Given the description of an element on the screen output the (x, y) to click on. 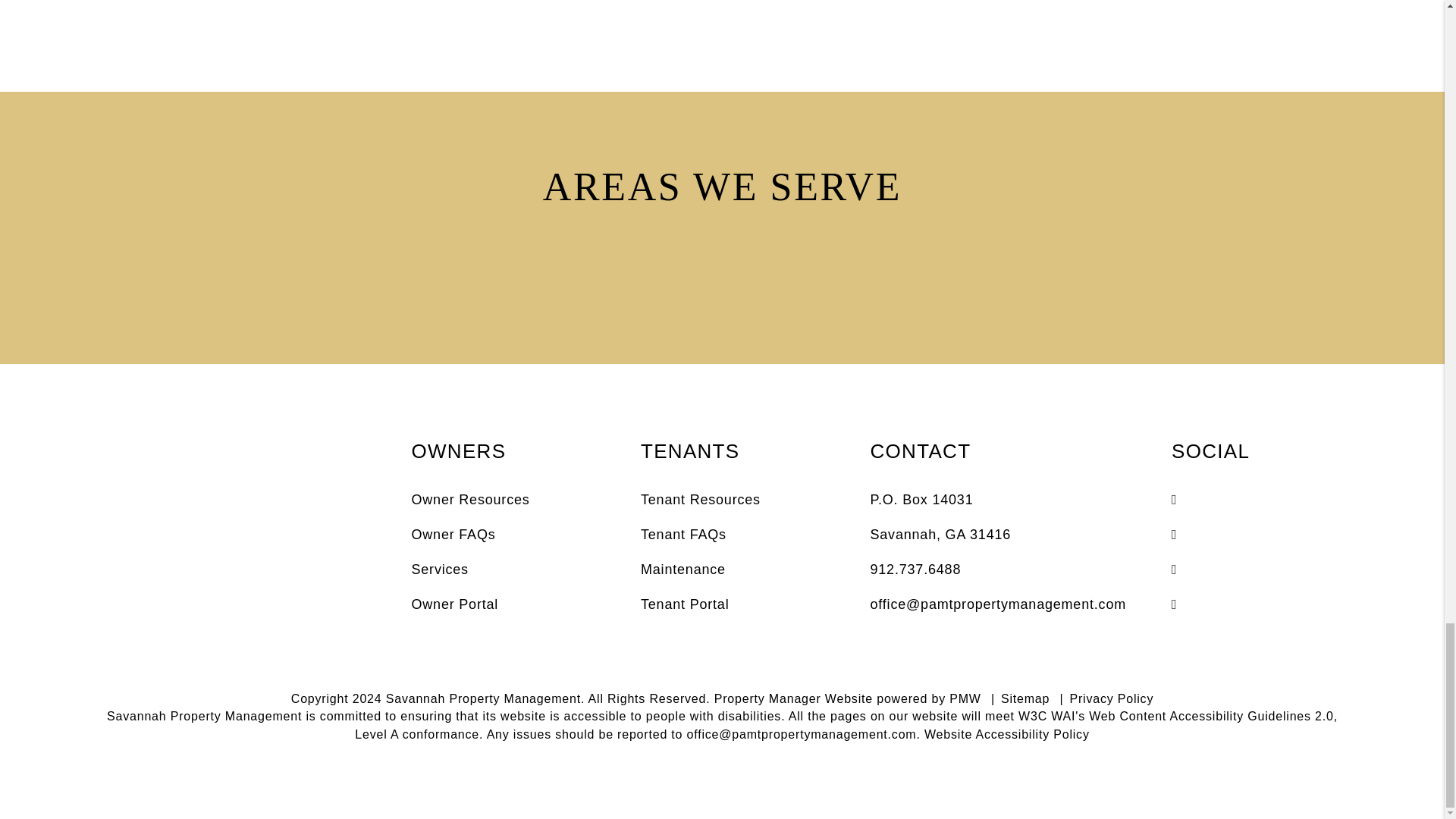
opens in a new window (1263, 534)
opens in new tab (682, 569)
opens in a new window (1263, 569)
opens in new tab (453, 604)
opens in a new window (1263, 499)
opens in a new window (1263, 604)
opens in new tab (684, 604)
